Given the description of an element on the screen output the (x, y) to click on. 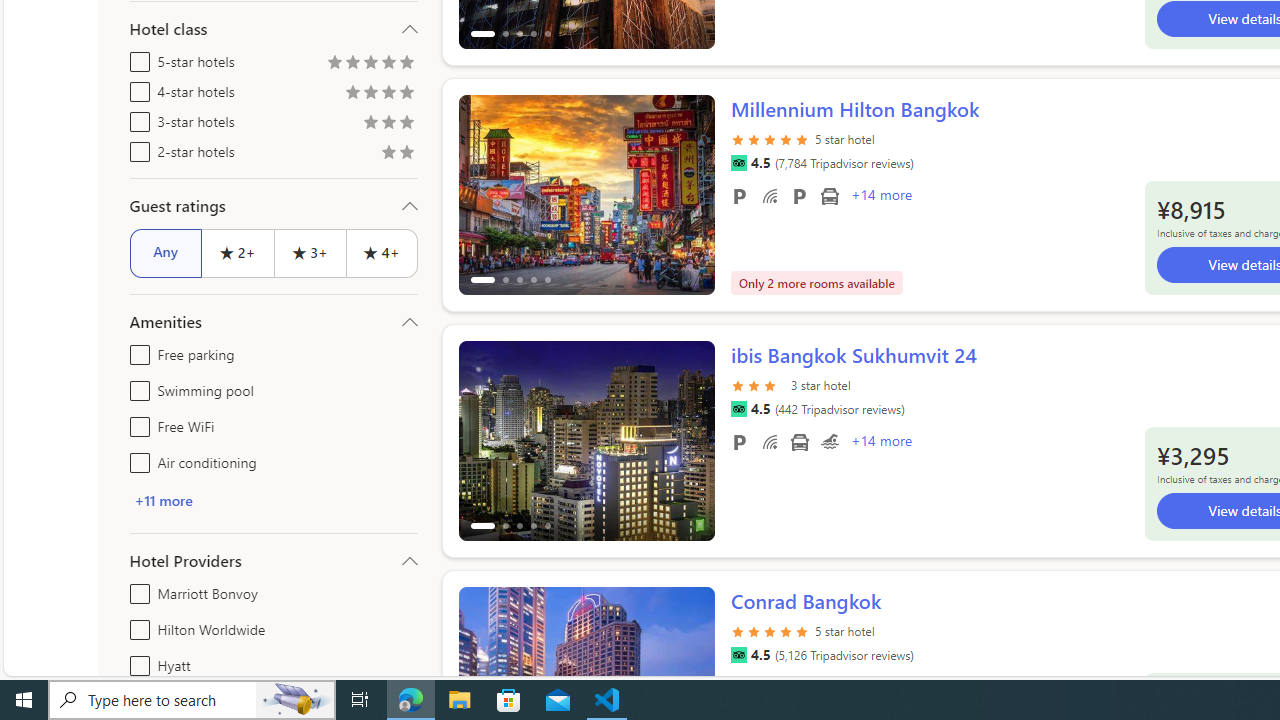
Amenities (273, 321)
Airport transportation (798, 441)
ScrollRight (690, 678)
Guest ratings (273, 205)
Hyatt (136, 661)
Hilton Worldwide (136, 625)
Any (165, 252)
2+ (236, 252)
Rating (406, 154)
+14 More Amenities (880, 443)
Valet parking (798, 196)
Air conditioning (136, 458)
2-star hotels (136, 147)
4-star hotels (136, 88)
star rating (770, 642)
